Given the description of an element on the screen output the (x, y) to click on. 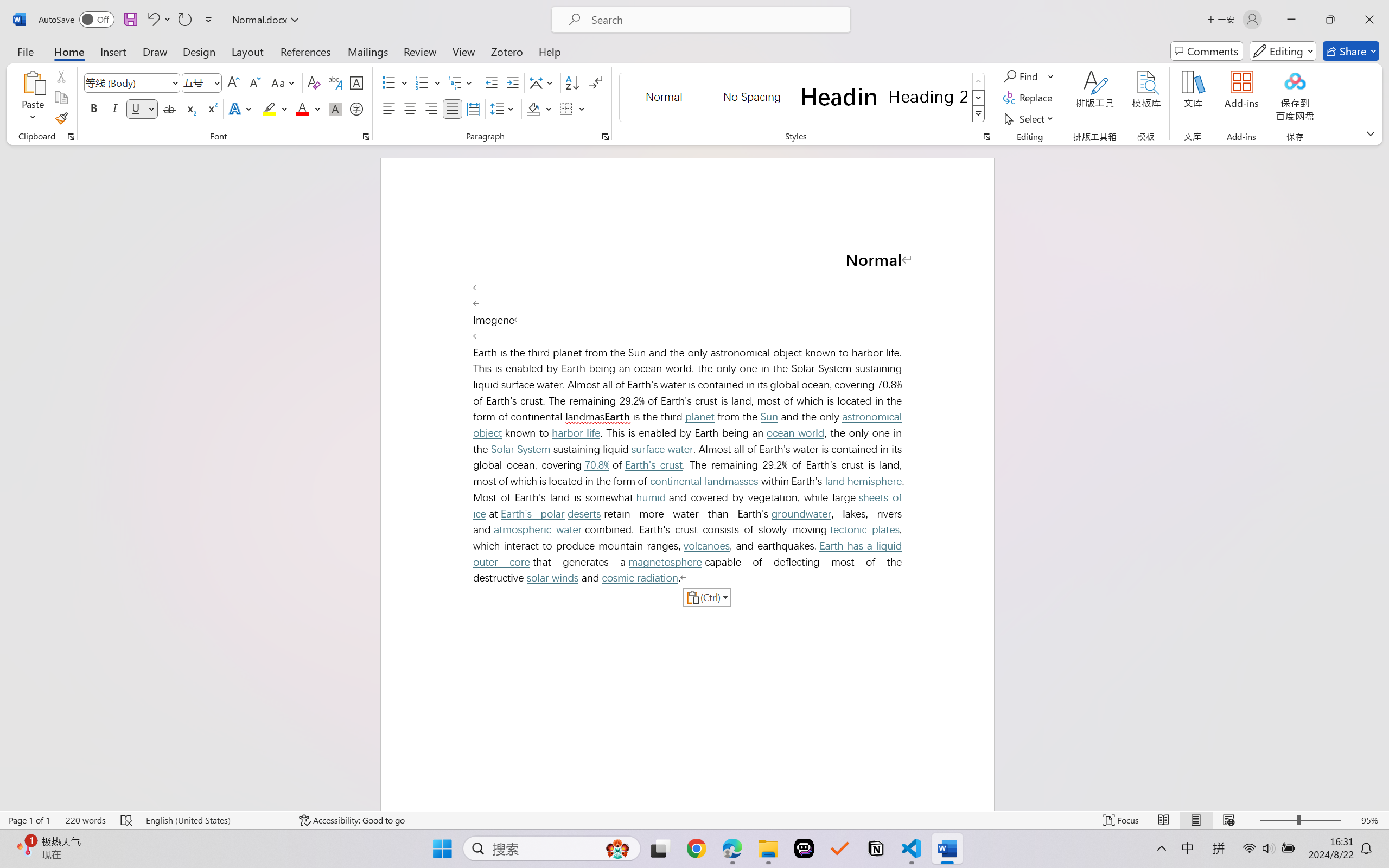
Earth's crust (653, 465)
continental (675, 480)
Heading 1 (839, 96)
Change Case (284, 82)
Earth has a liquid outer core (690, 554)
Superscript (210, 108)
harbor life (575, 433)
Clear Formatting (313, 82)
magnetosphere (665, 561)
